Given the description of an element on the screen output the (x, y) to click on. 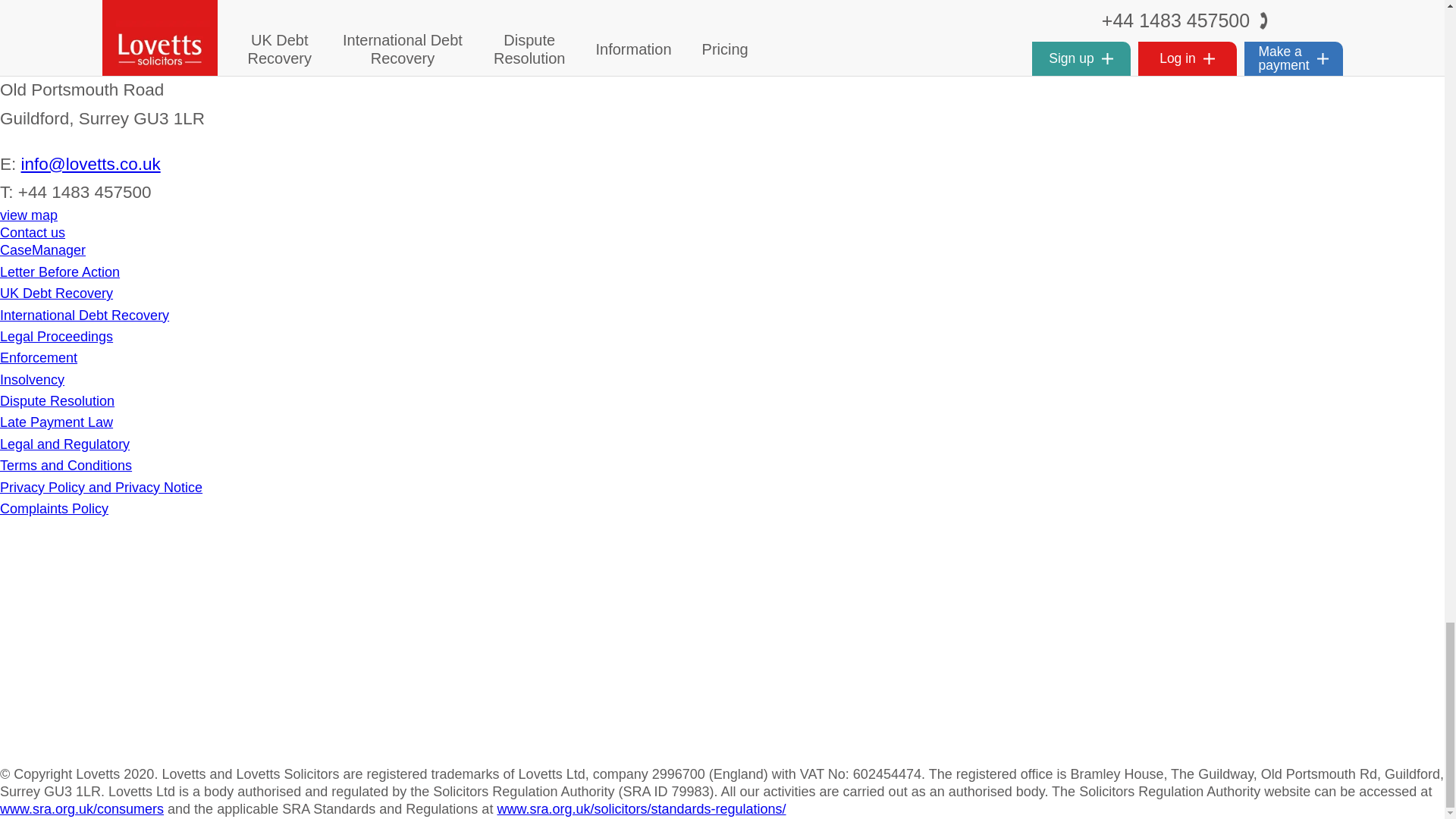
Contact us (32, 232)
Privacy Policy and Privacy Notice (101, 487)
Enforcement (38, 357)
view map (29, 215)
Insolvency (32, 379)
UK Debt Recovery (56, 293)
Dispute Resolution (57, 400)
Letter Before Action (59, 272)
CaseManager (42, 249)
Complaints Policy (53, 508)
Late Payment Law (56, 421)
Legal and Regulatory (64, 444)
Legal Proceedings (56, 336)
International Debt Recovery (84, 314)
Terms and Conditions (66, 465)
